Given the description of an element on the screen output the (x, y) to click on. 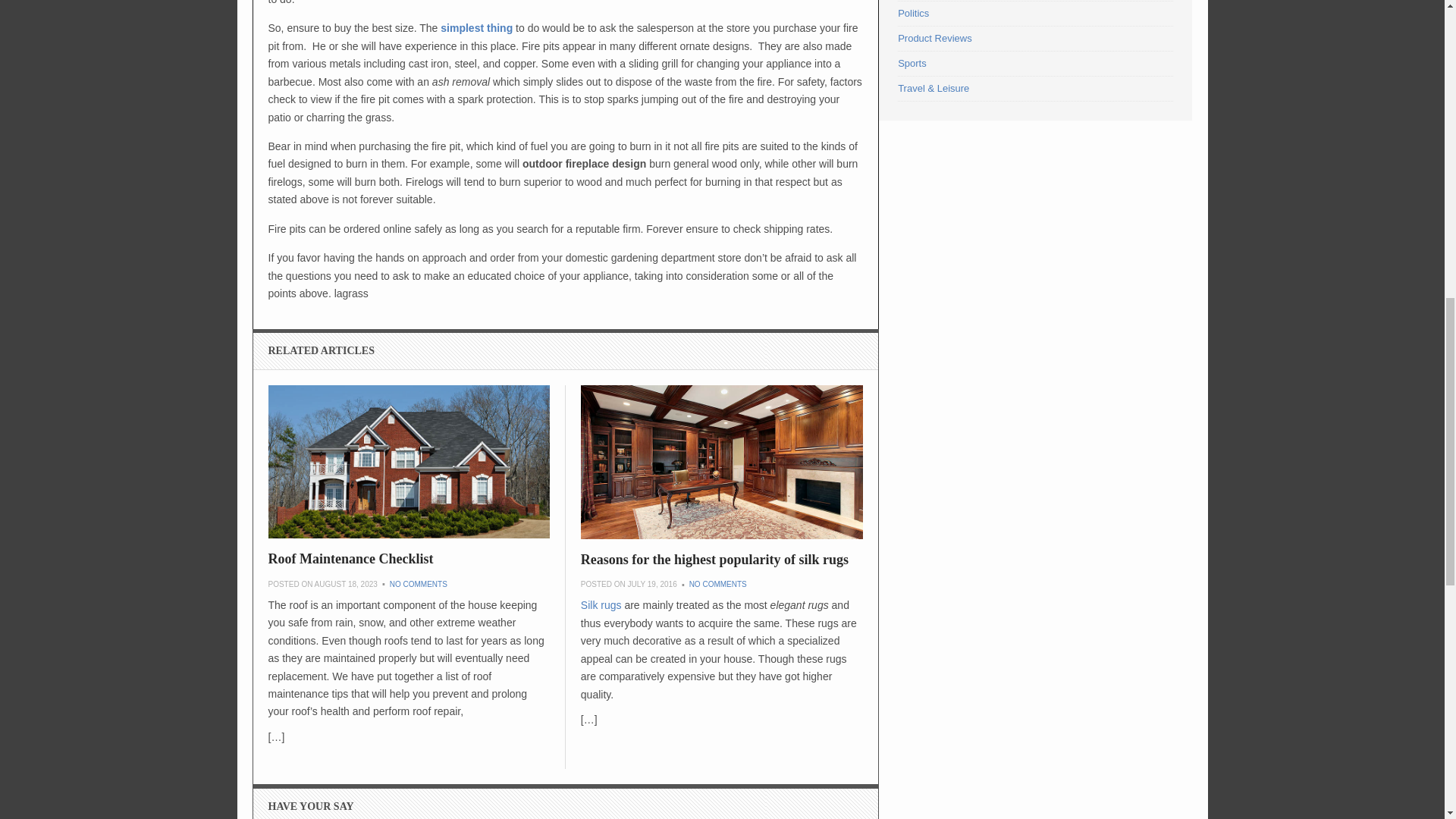
NO COMMENTS (418, 583)
Reasons for the highest popularity of silk rugs (714, 559)
Permanent link to: Roof Maintenance Checklist (350, 558)
Silk rugs (600, 604)
NO COMMENTS (717, 583)
Roof Maintenance Checklist (350, 558)
simplest thing (475, 28)
Permanent link to: Roof Maintenance Checklist (408, 461)
